Given the description of an element on the screen output the (x, y) to click on. 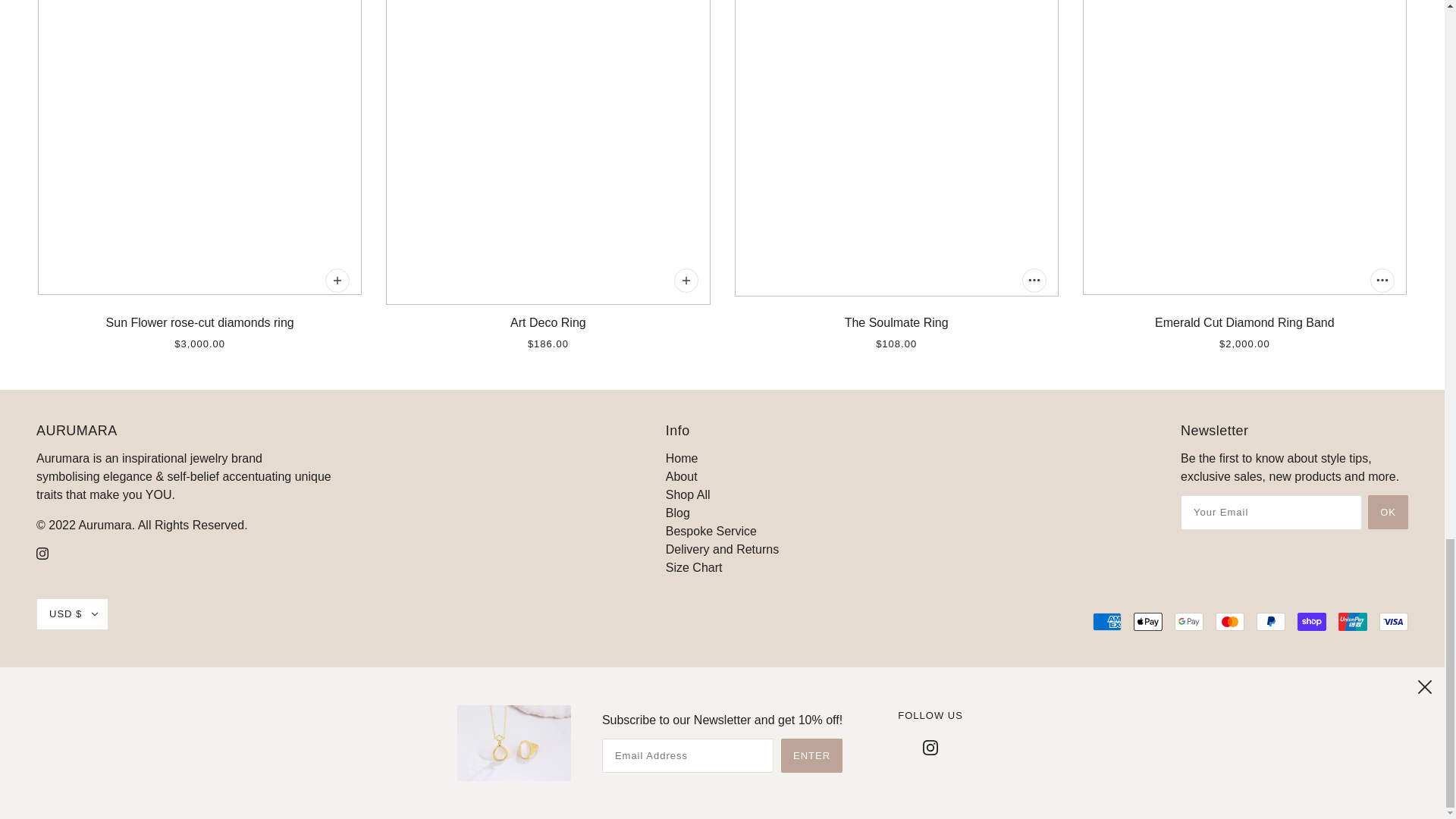
PayPal (1270, 621)
Size Chart (693, 567)
Shop All (687, 494)
Union Pay (1352, 621)
Google Pay (1189, 621)
Delivery and Returns (721, 549)
About (681, 476)
Mastercard (1229, 621)
American Express (1107, 621)
Blog (677, 512)
Bespoke Service (711, 530)
Shop Pay (1311, 621)
Visa (1392, 621)
Home (681, 458)
Apple Pay (1147, 621)
